Given the description of an element on the screen output the (x, y) to click on. 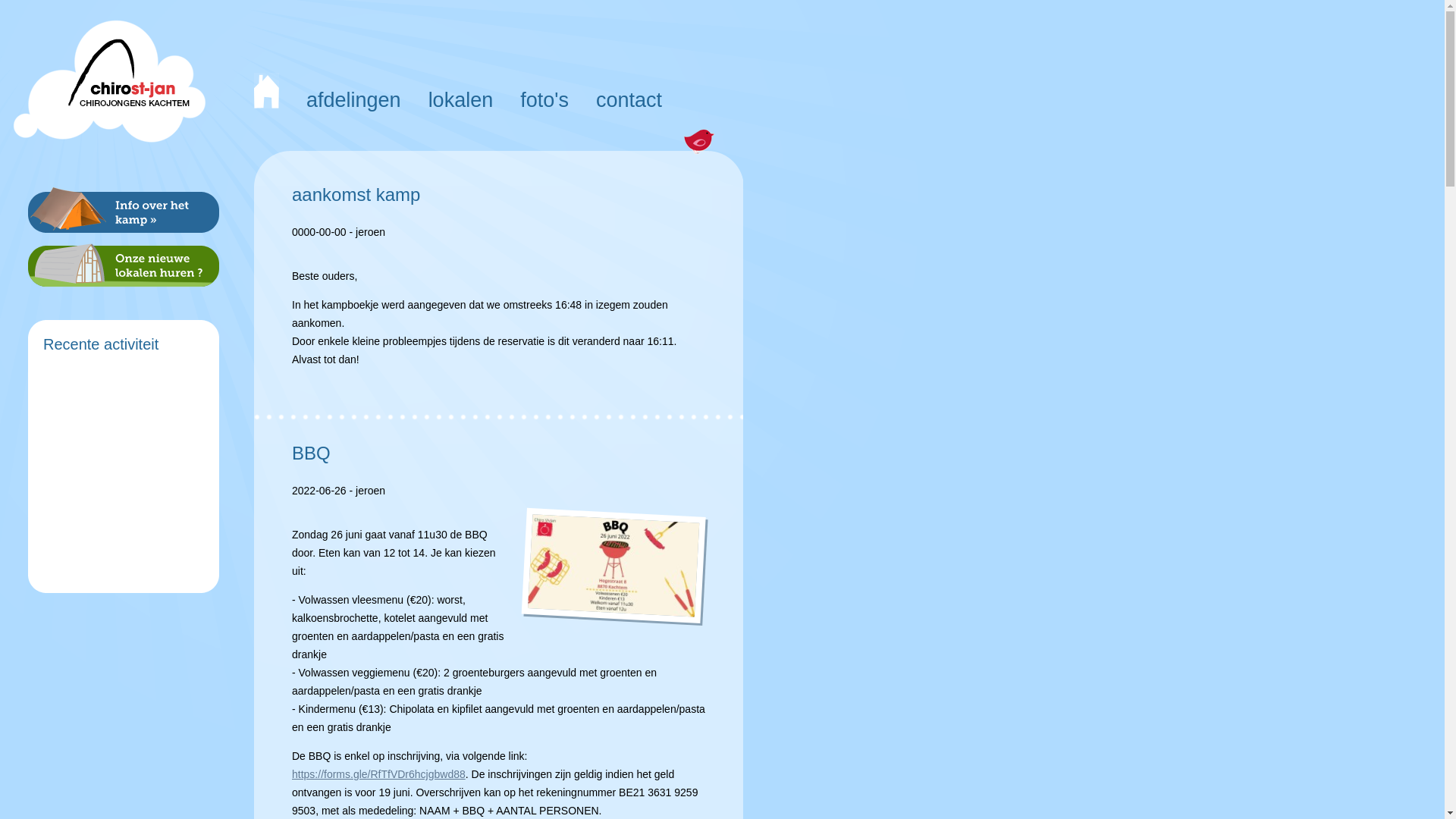
home Element type: text (266, 96)
contact Element type: text (629, 96)
https://forms.gle/RfTfVDr6hcjgbwd88 Element type: text (378, 774)
lokalen Element type: text (460, 96)
afdelingen Element type: text (353, 96)
Onze nieuwe lokalen huren ? Element type: text (123, 264)
foto's Element type: text (544, 96)
